Given the description of an element on the screen output the (x, y) to click on. 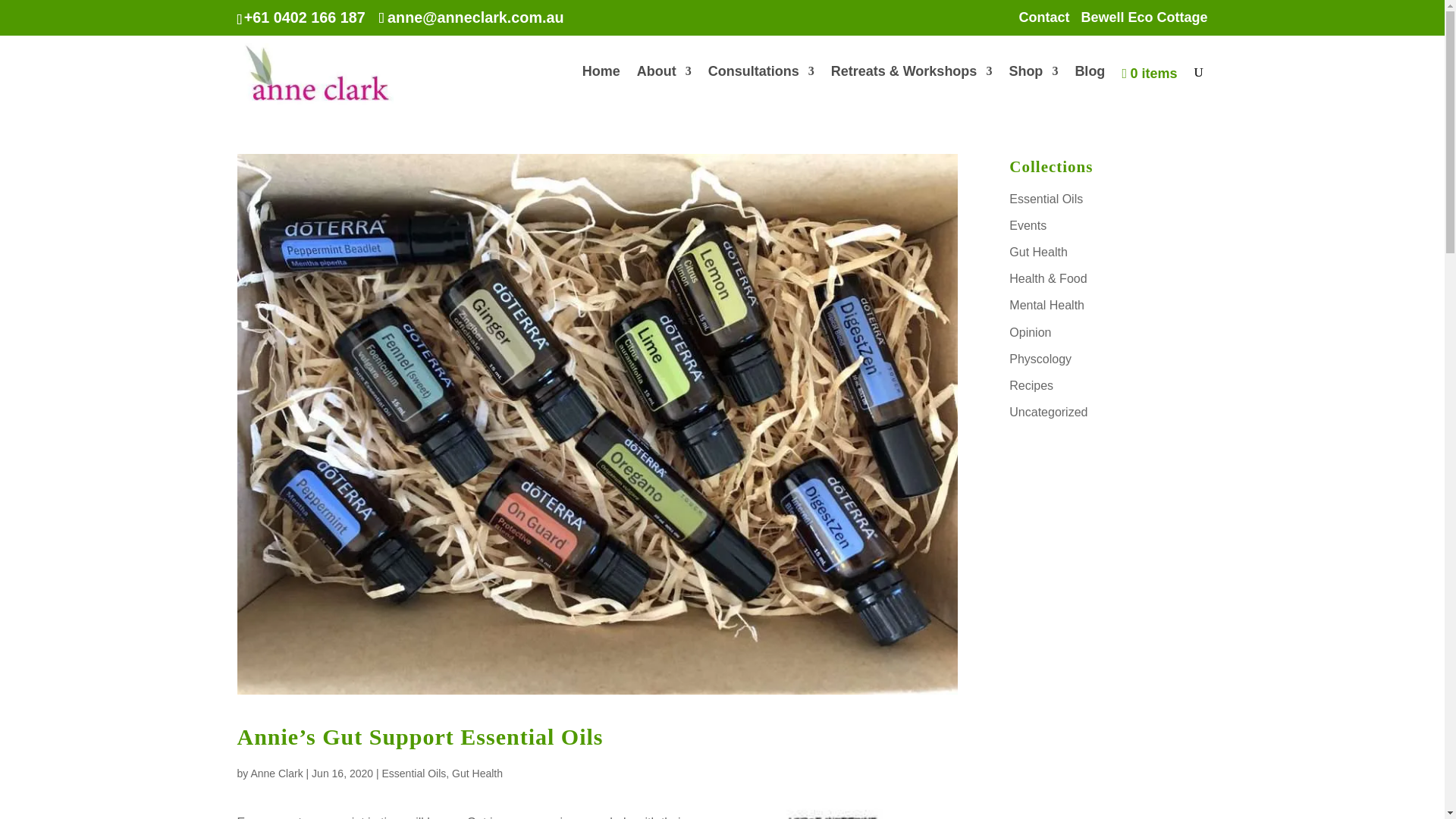
Start shopping (1148, 89)
Bewell Eco Cottage (1143, 22)
About (664, 86)
Home (601, 86)
0 items (1148, 89)
Consultations (760, 86)
Shop (1033, 86)
Posts by Anne Clark (276, 773)
Contact (1042, 22)
